Given the description of an element on the screen output the (x, y) to click on. 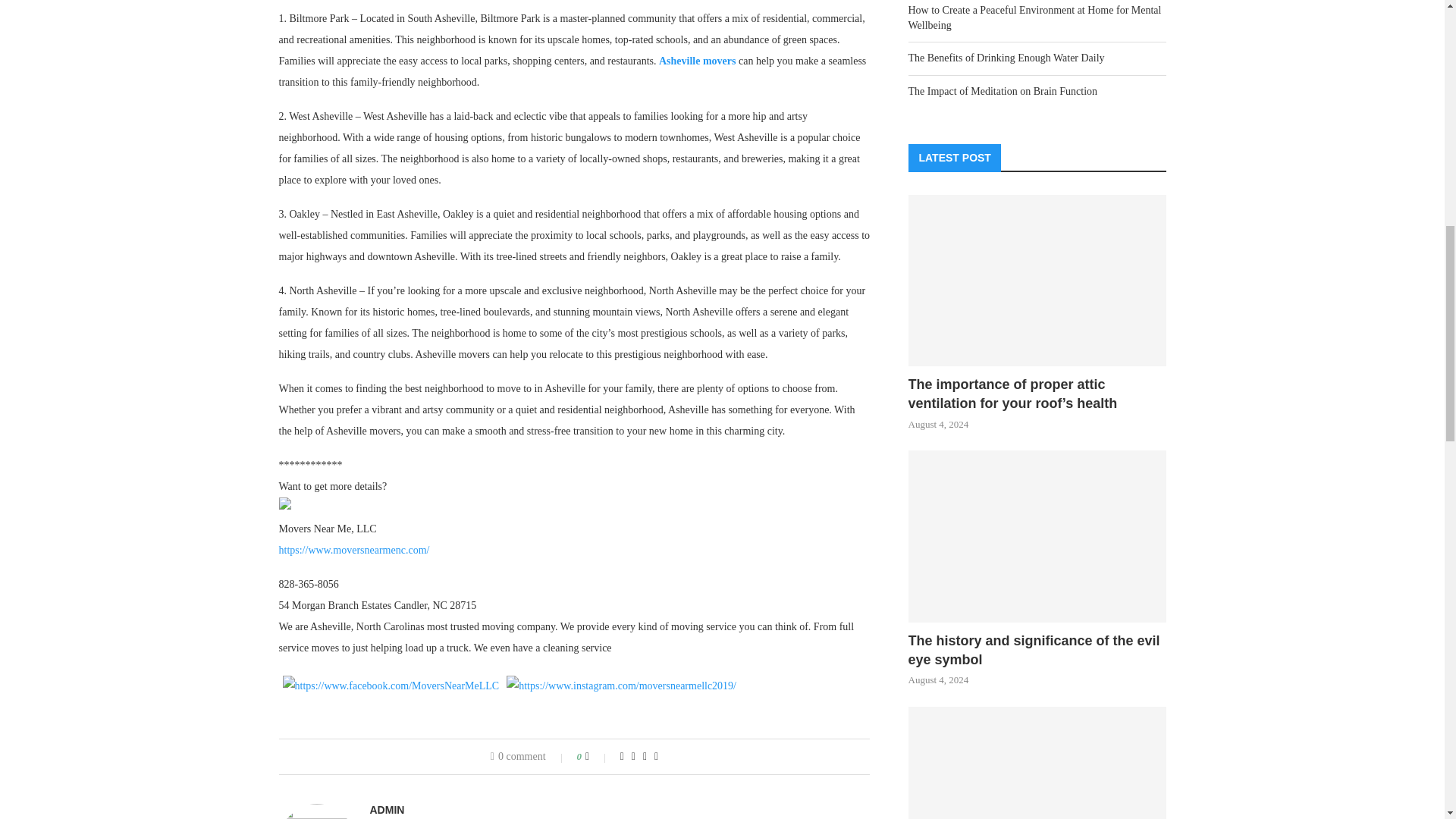
Like (597, 756)
Author admin (386, 809)
Asheville movers (697, 60)
